Given the description of an element on the screen output the (x, y) to click on. 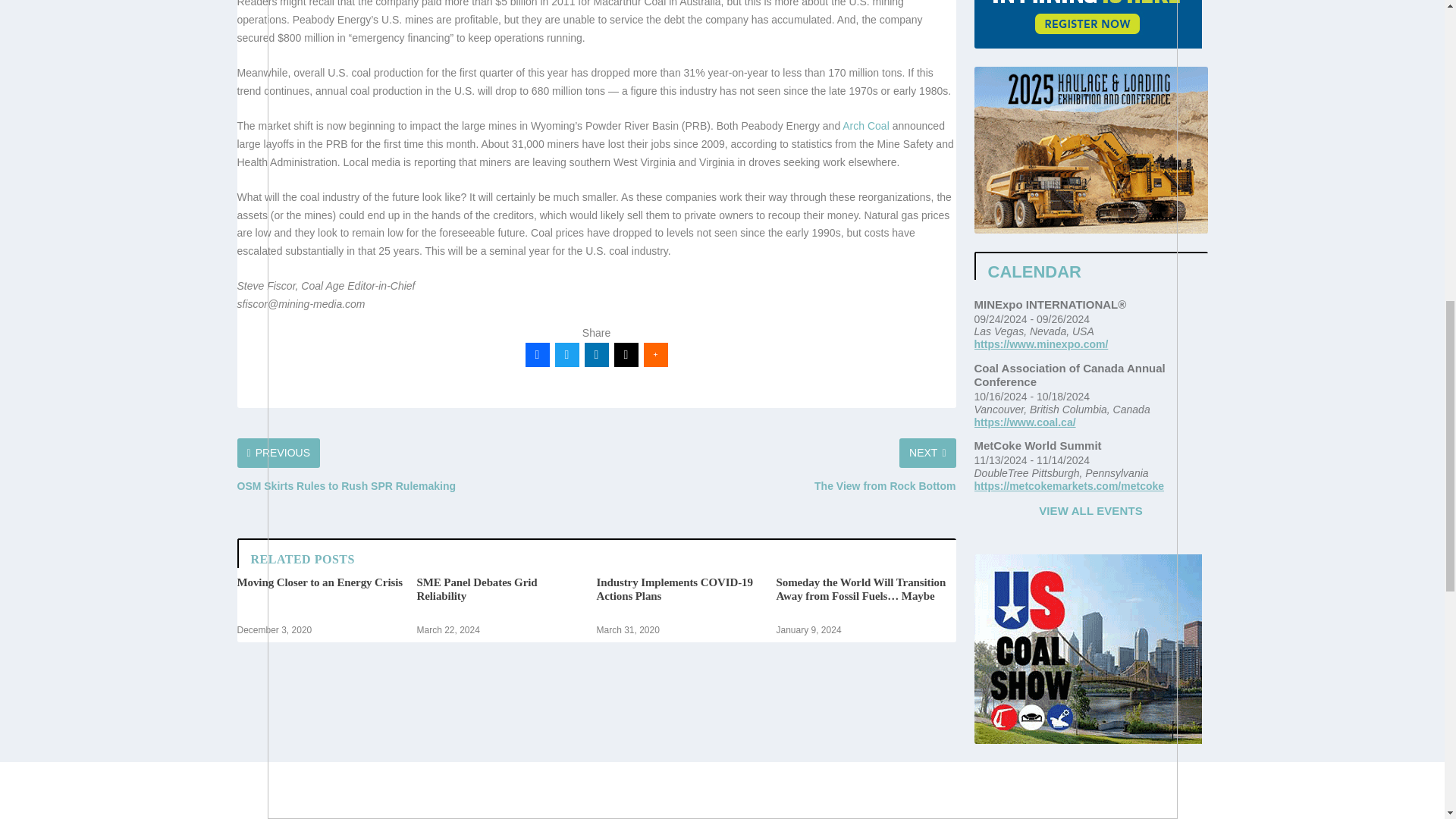
Add this to LinkedIn (595, 354)
Tweet this ! (566, 354)
Email this  (626, 354)
More share links (654, 354)
Share this on Facebook (536, 354)
